Given the description of an element on the screen output the (x, y) to click on. 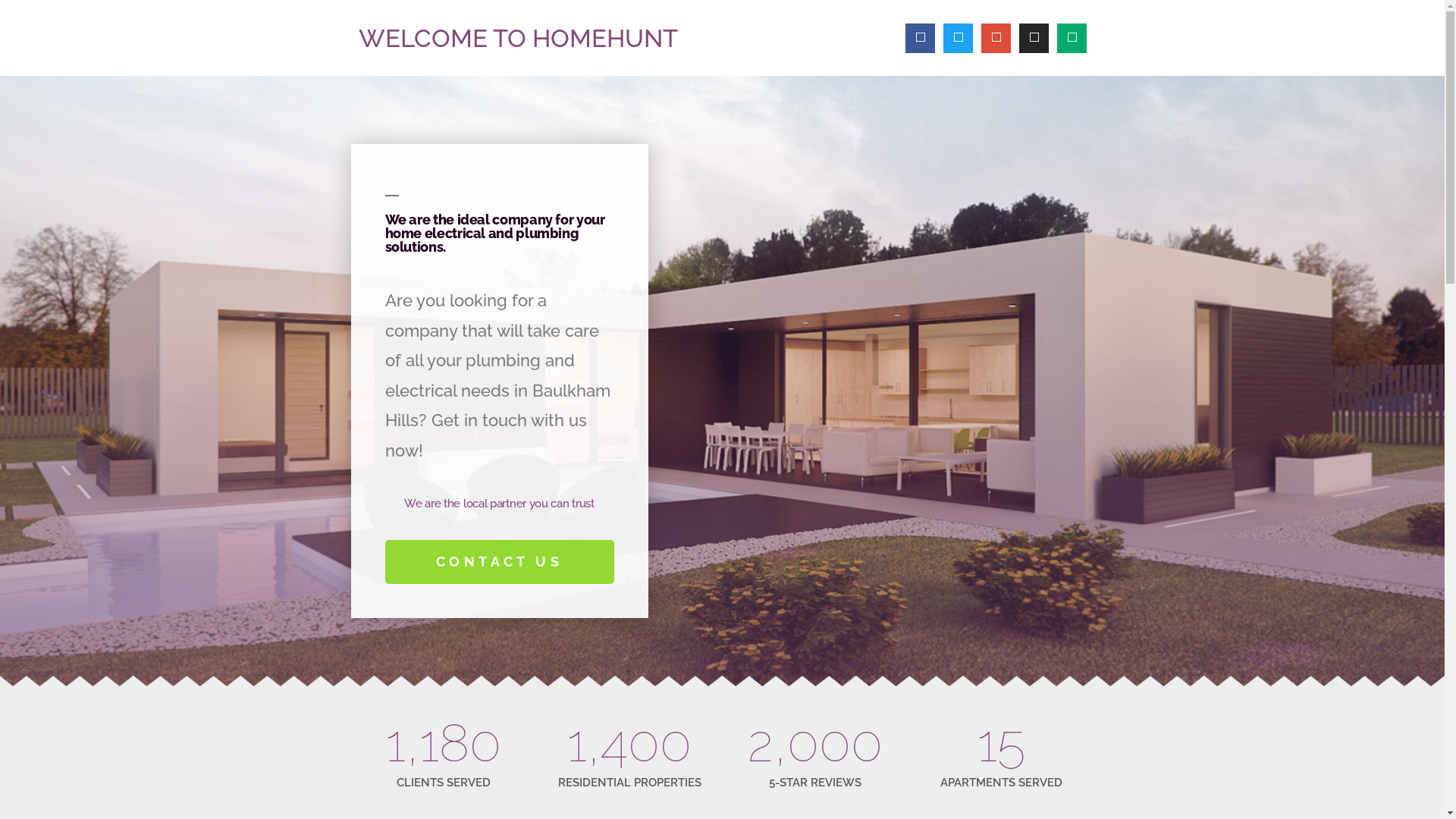
CONTACT US Element type: text (499, 561)
